Given the description of an element on the screen output the (x, y) to click on. 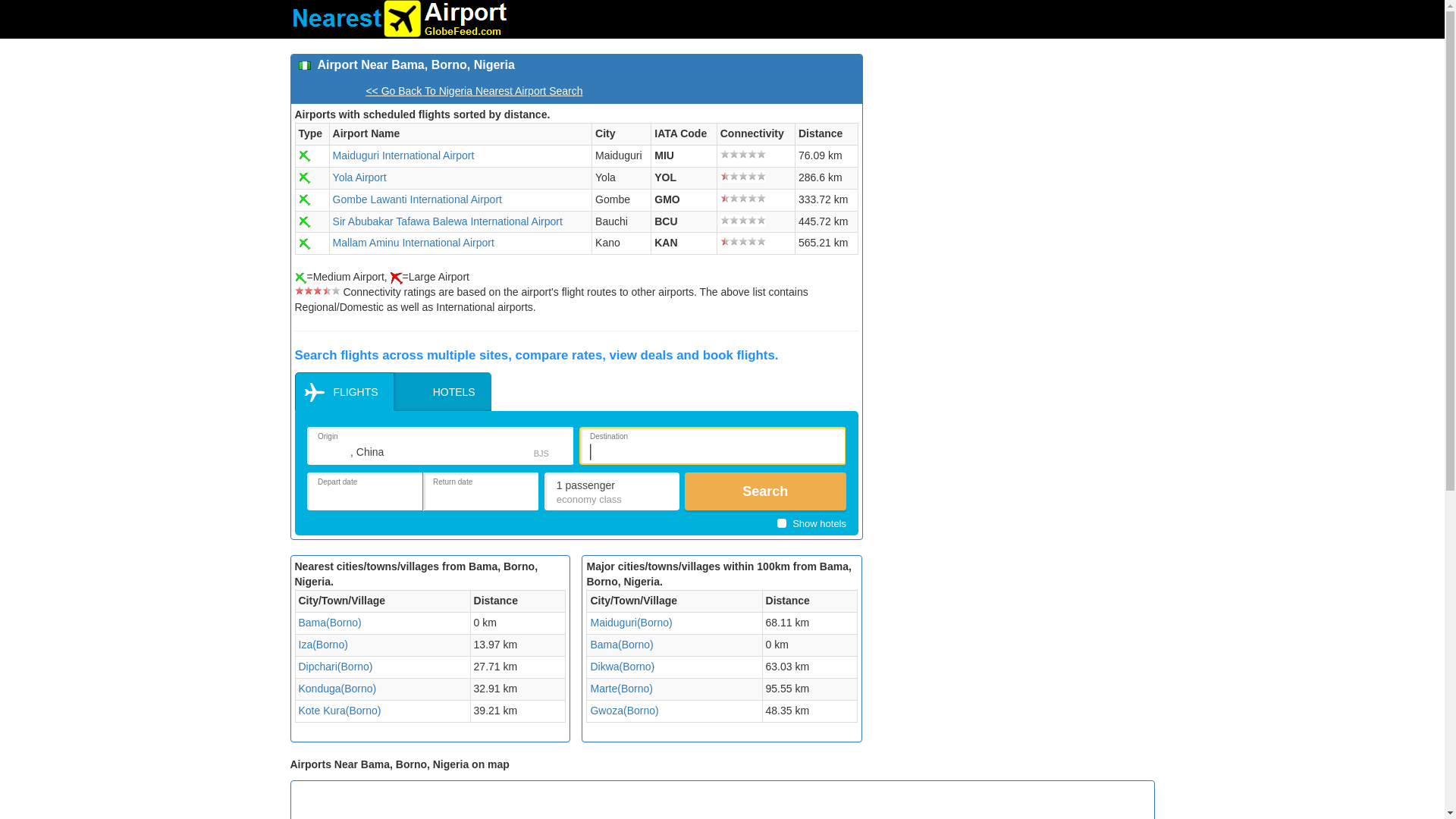
Airports near Kote Kura, Borno, Nigeria (339, 710)
Airports near Konduga, Borno, Nigeria (337, 688)
Airports near Maiduguri, Borno, Nigeria (630, 622)
Search (764, 491)
Airports near Bama, Borno, Nigeria (329, 622)
Advertisement (1013, 160)
Yola Airport (360, 177)
Maiduguri International Airport (403, 155)
Airports near Dipchari, Borno, Nigeria (335, 666)
Airports near Gwoza, Borno, Nigeria (623, 710)
